Given the description of an element on the screen output the (x, y) to click on. 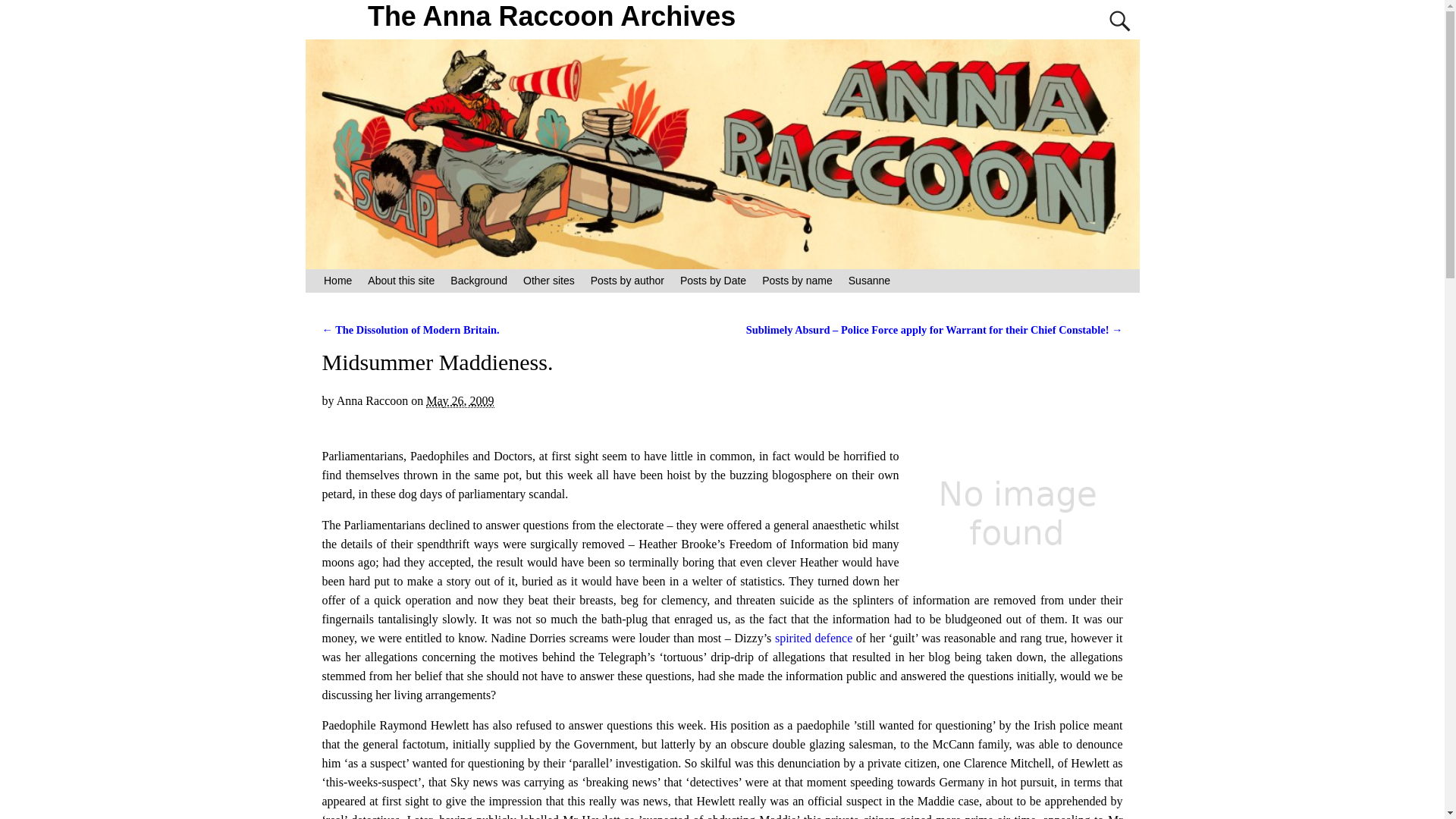
2009-05-26 (459, 400)
Other sites (549, 280)
Posts by author (626, 280)
About this site (400, 280)
Background (478, 280)
Posts by name (797, 280)
Posts by Date (712, 280)
The Anna Raccoon Archives (551, 15)
Susanne (869, 280)
spirited defence (815, 637)
The Anna Raccoon Archives (551, 15)
Home (337, 280)
